Given the description of an element on the screen output the (x, y) to click on. 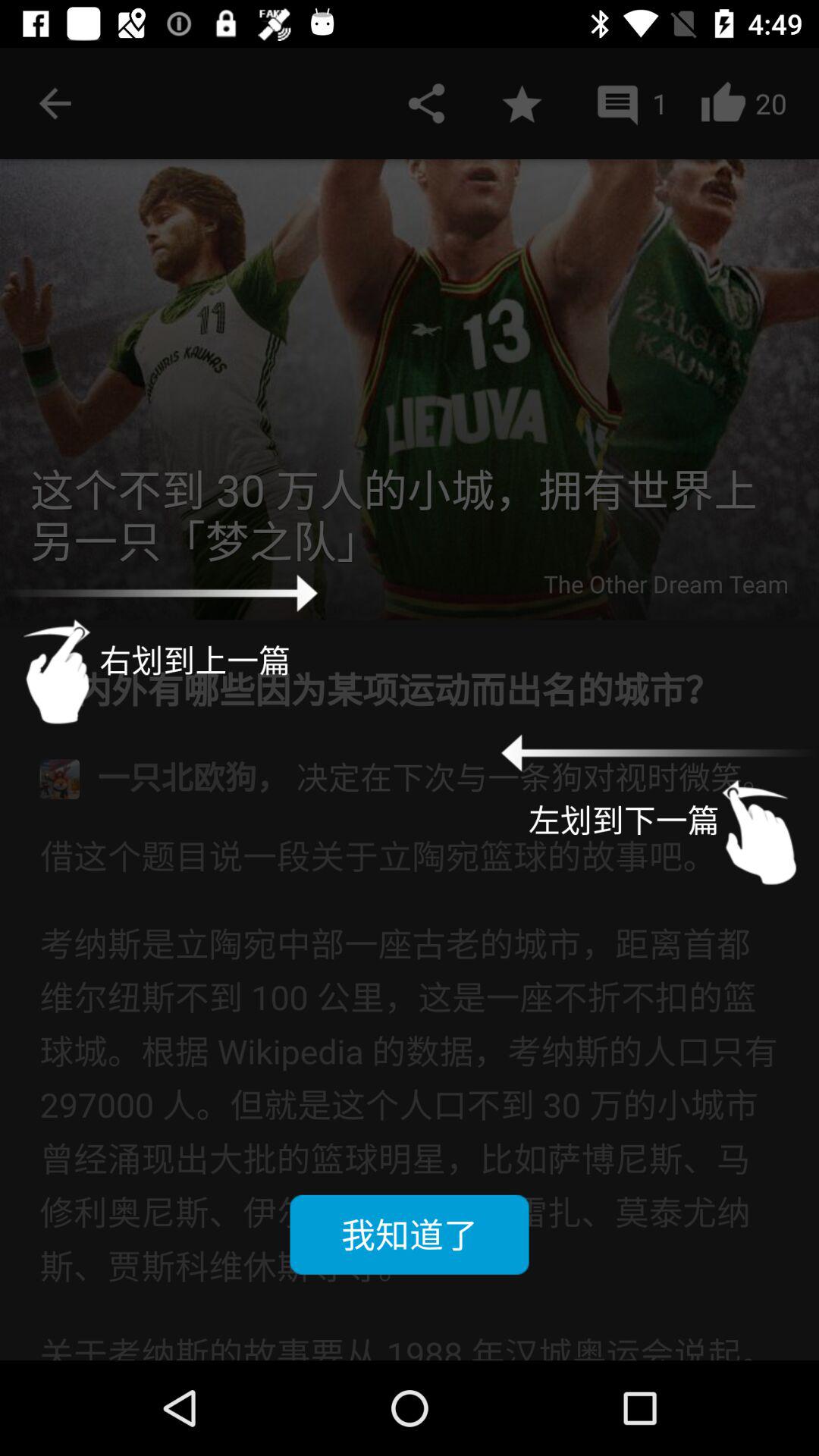
favorite page (521, 103)
